Given the description of an element on the screen output the (x, y) to click on. 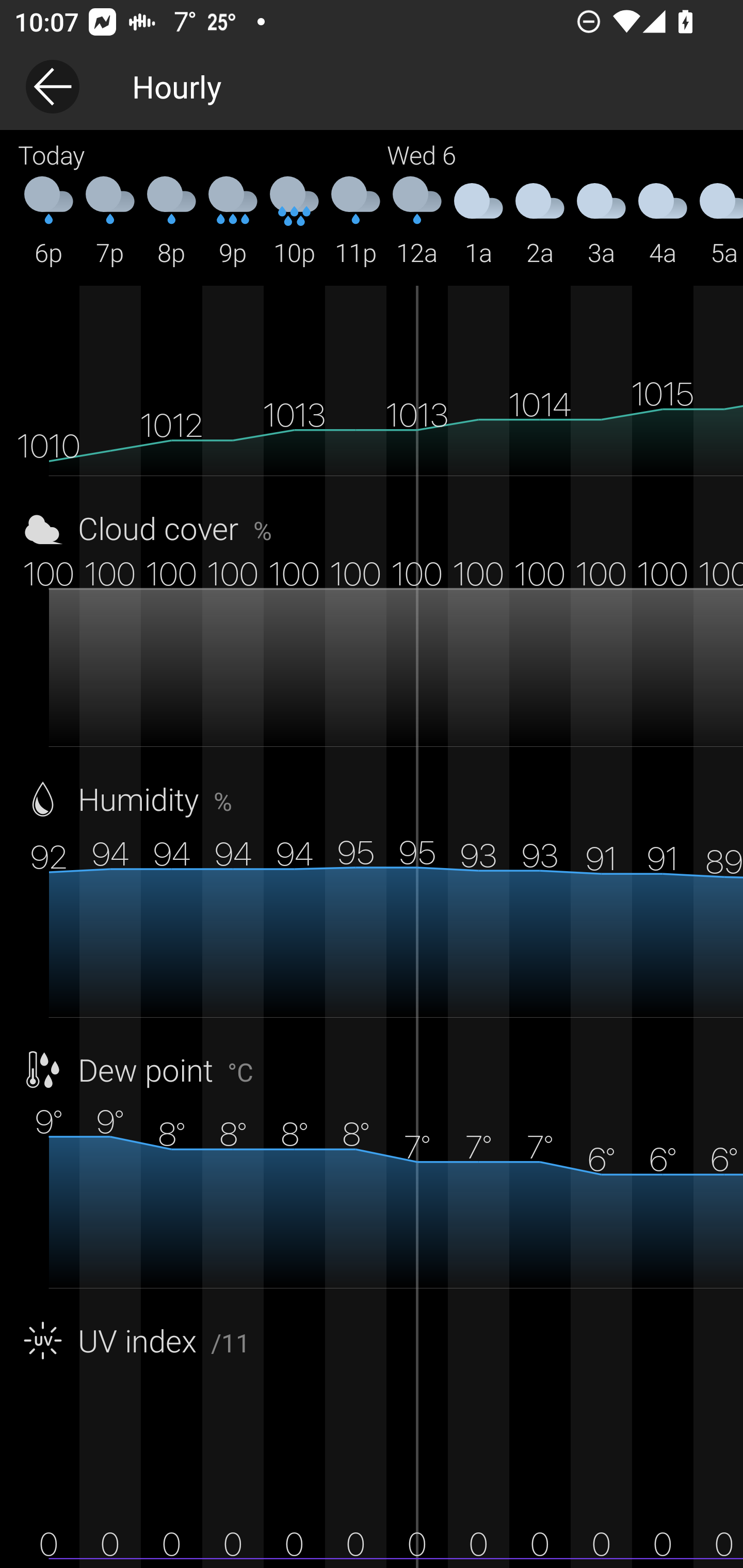
6p (48, 222)
7p (110, 222)
8p (171, 222)
9p (232, 222)
10p (294, 222)
11p (355, 222)
12a (417, 222)
1a (478, 222)
2a (539, 222)
3a (601, 222)
4a (662, 222)
5a (718, 222)
